Given the description of an element on the screen output the (x, y) to click on. 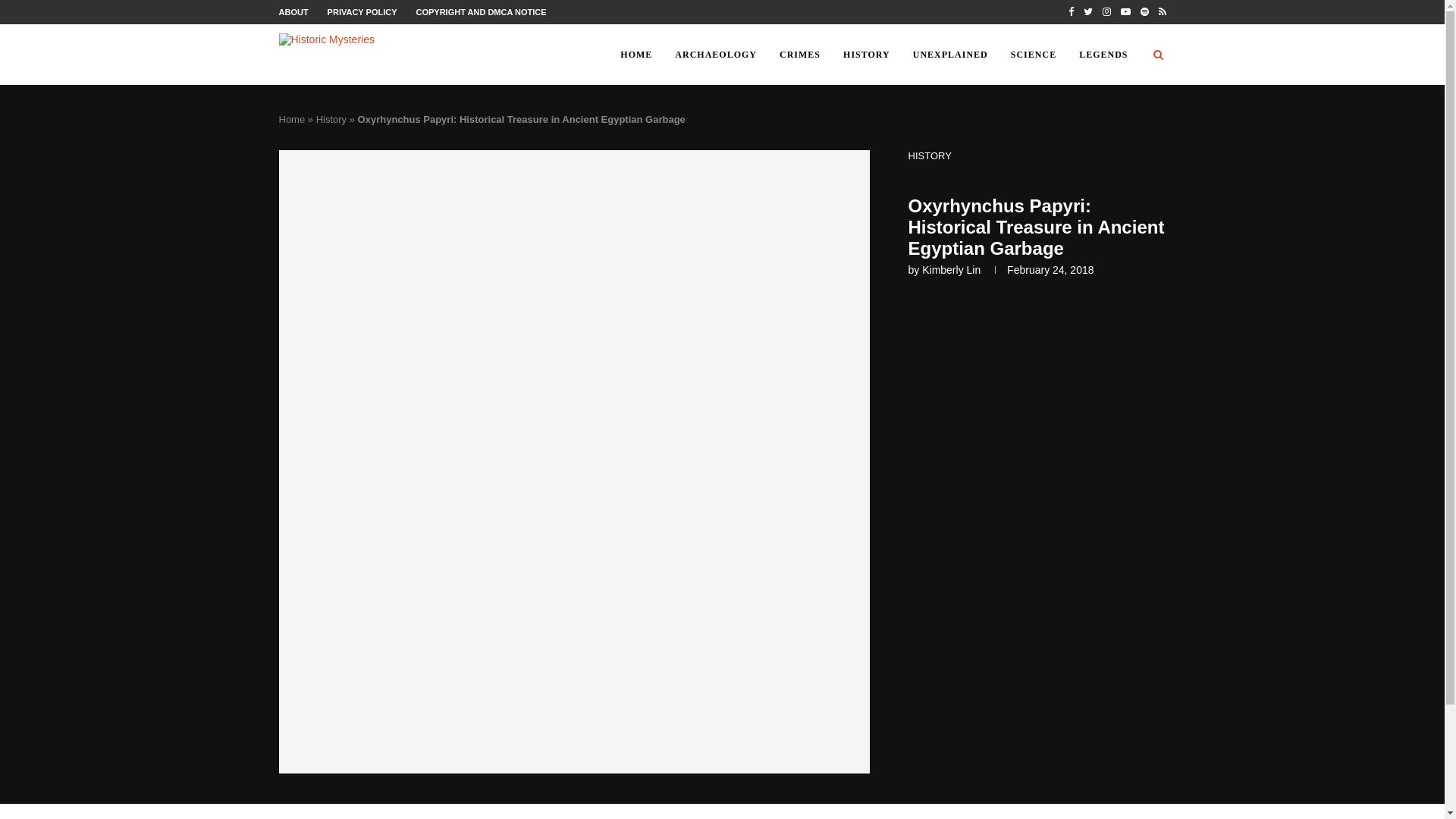
HISTORY (866, 54)
HISTORY (930, 155)
PRIVACY POLICY (362, 11)
UNEXPLAINED (949, 54)
COPYRIGHT AND DMCA NOTICE (480, 11)
ABOUT (293, 11)
ARCHAEOLOGY (715, 54)
CRIMES (799, 54)
LEGENDS (1102, 54)
Kimberly Lin (950, 269)
